Given the description of an element on the screen output the (x, y) to click on. 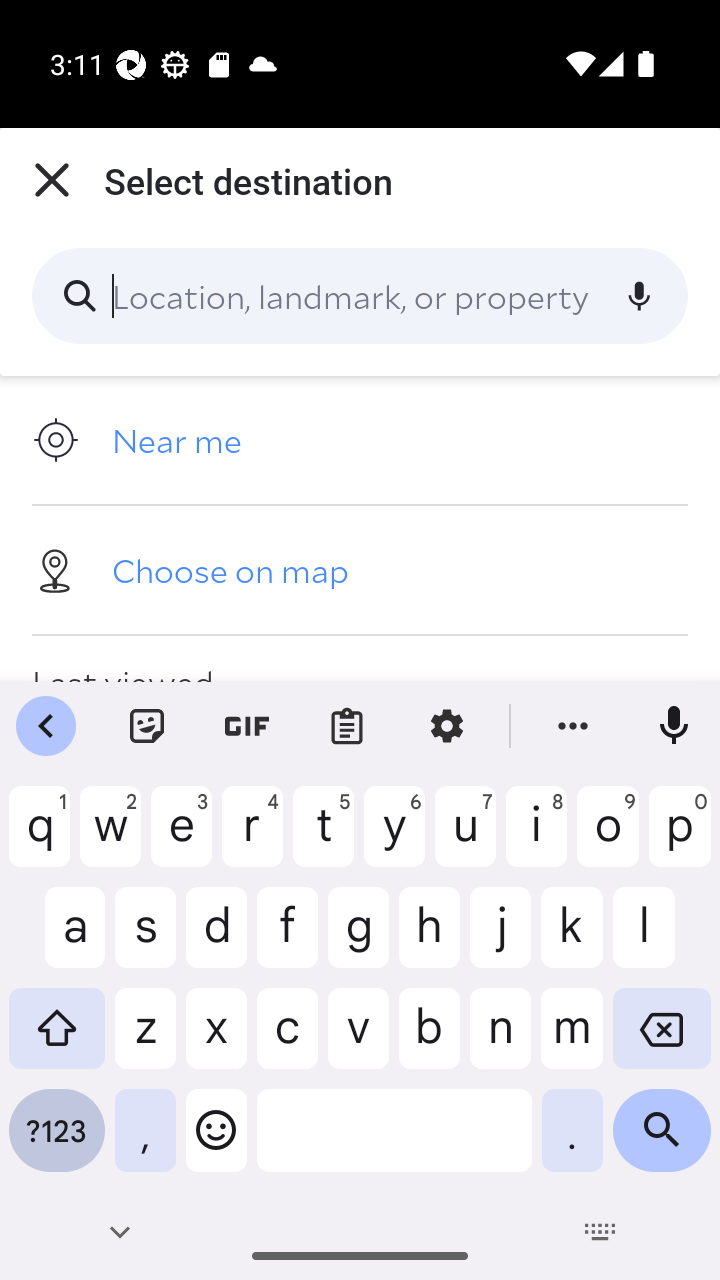
Location, landmark, or property (359, 296)
Near me (360, 440)
Choose on map (360, 569)
